Given the description of an element on the screen output the (x, y) to click on. 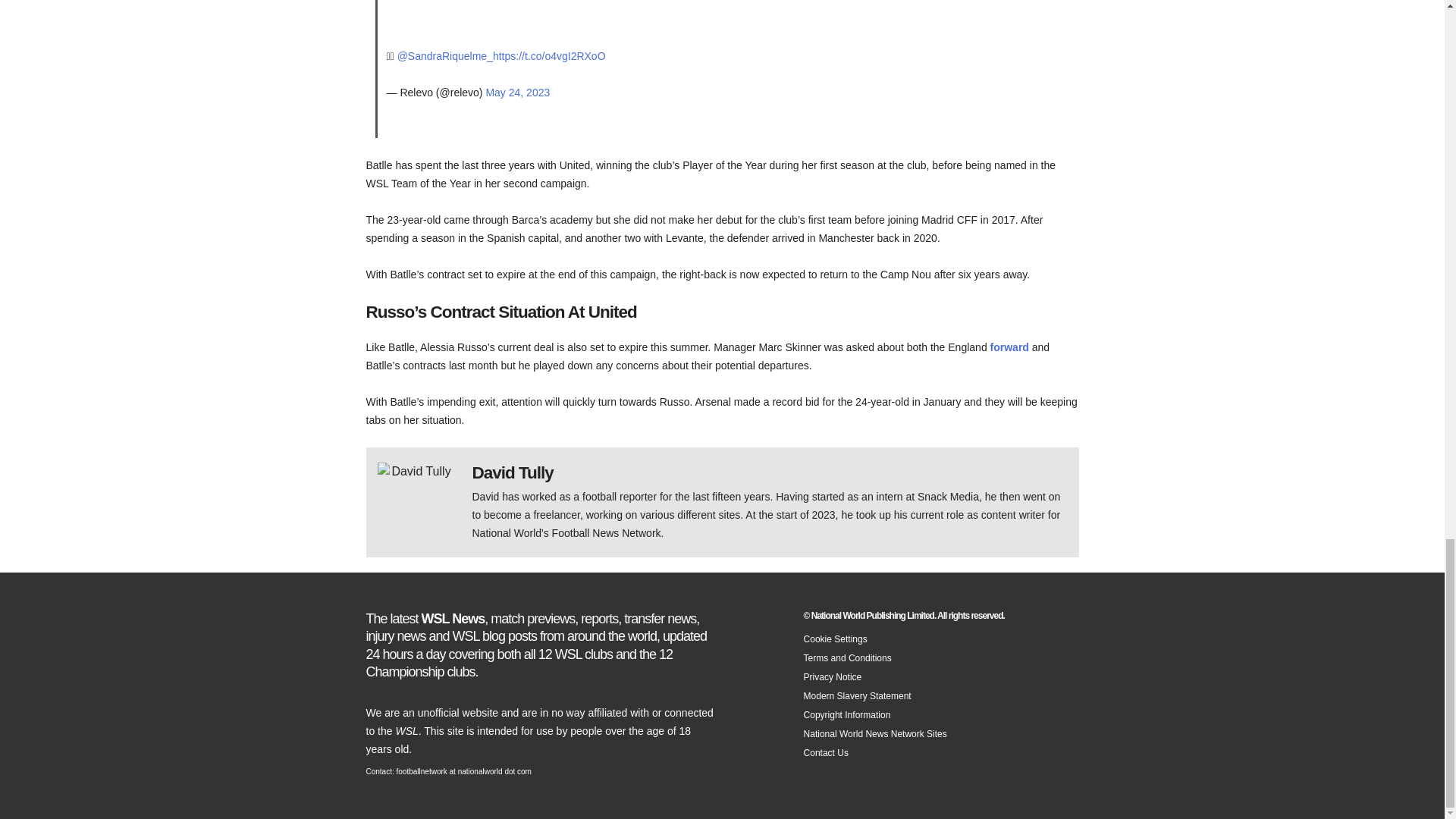
National World News Network Sites (875, 733)
Contact Us (825, 752)
Terms and Conditions (847, 657)
Cookie Settings (835, 638)
Copyright Information (847, 715)
Modern Slavery Statement (857, 696)
Privacy Notice (832, 676)
